Given the description of an element on the screen output the (x, y) to click on. 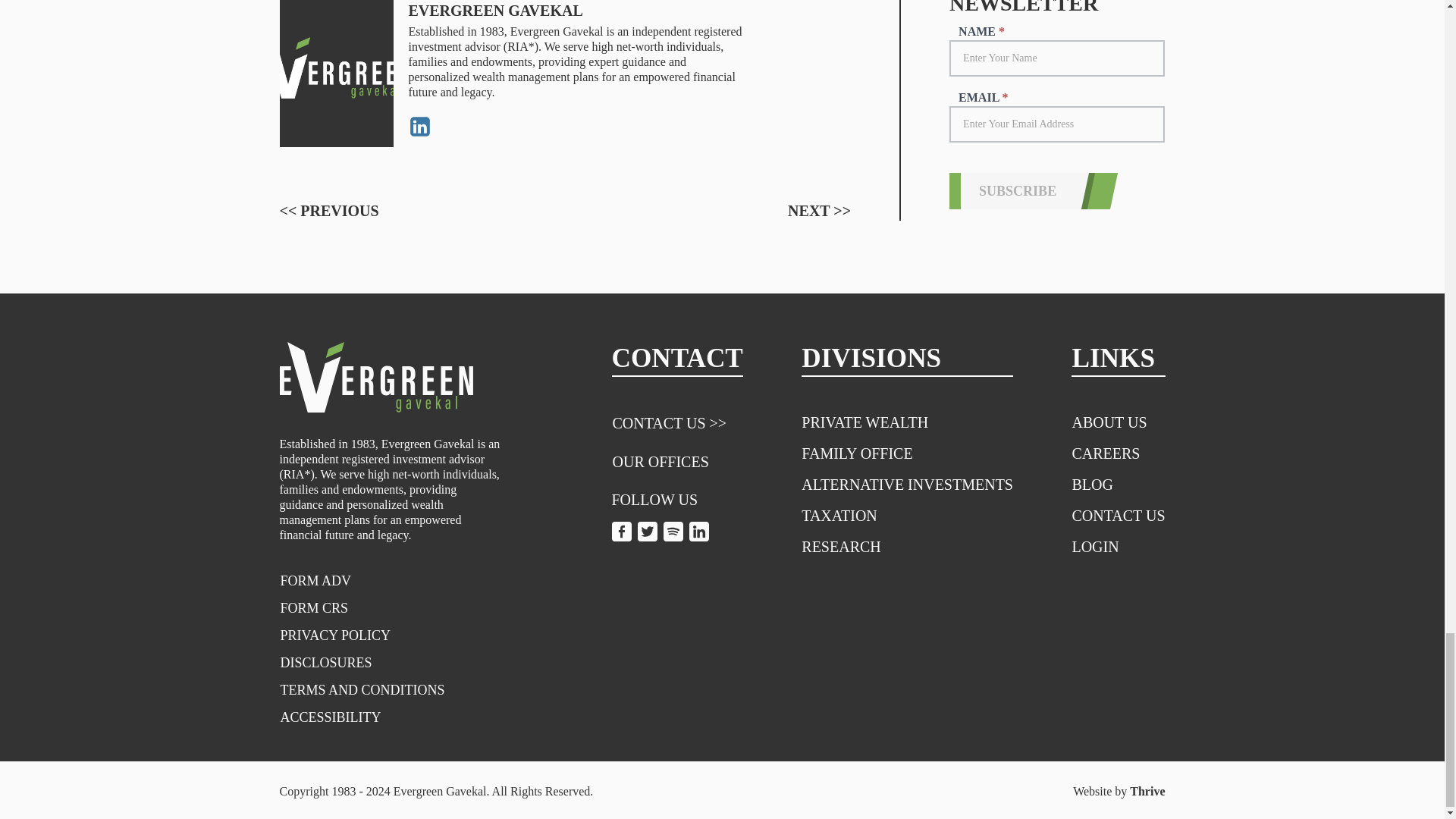
DISCLOSURES (325, 662)
FORM ADV (315, 580)
TERMS AND CONDITIONS (362, 689)
PRIVACY POLICY (335, 635)
ACCESSIBILITY (330, 717)
FORM CRS (314, 607)
OUR OFFICES (660, 462)
